Given the description of an element on the screen output the (x, y) to click on. 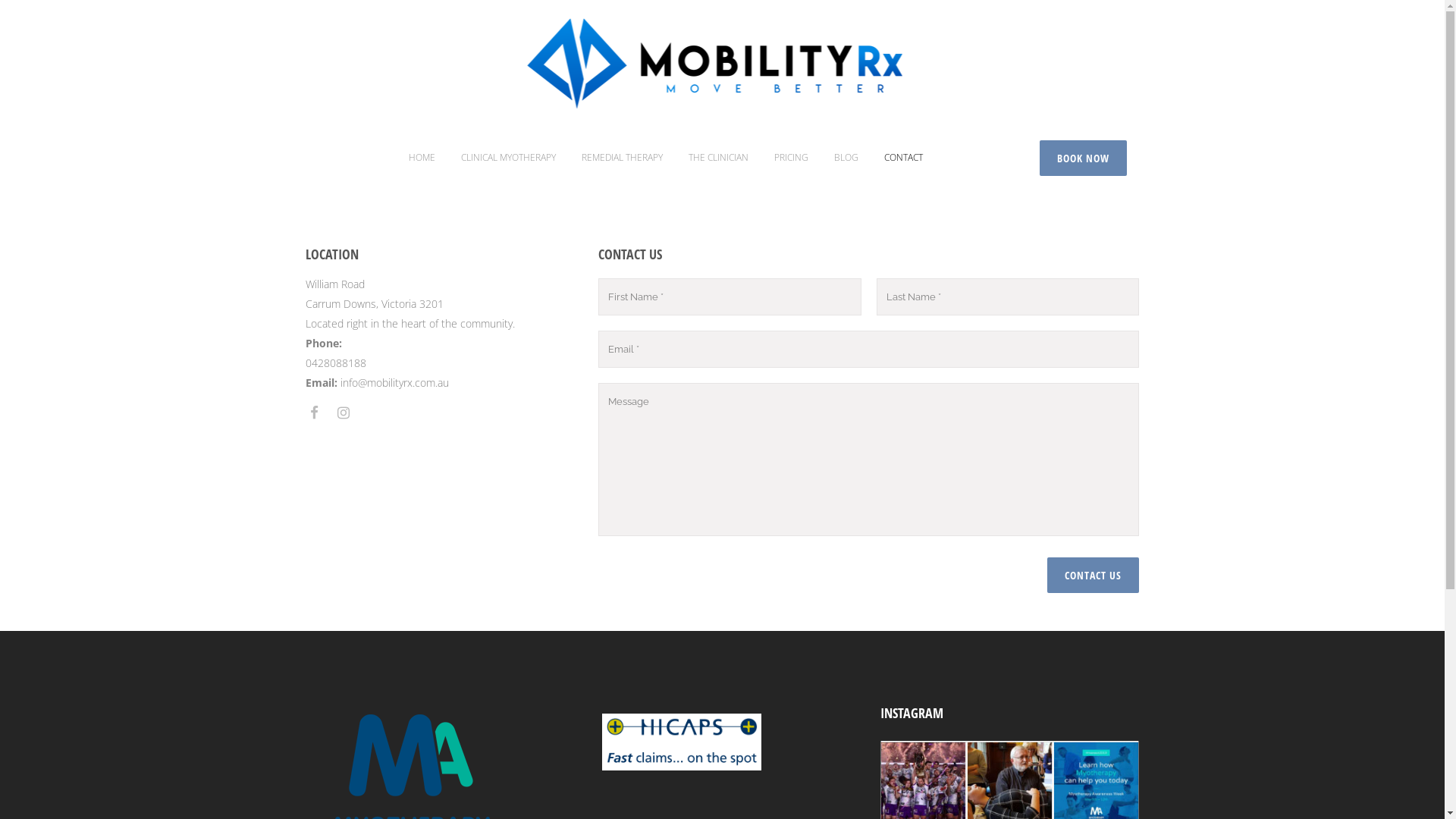
REMEDIAL THERAPY Element type: text (621, 157)
CLINICAL MYOTHERAPY Element type: text (508, 157)
Contact Us Element type: text (1093, 575)
CONTACT Element type: text (903, 157)
THE CLINICIAN Element type: text (718, 157)
BLOG Element type: text (846, 157)
HOME Element type: text (421, 157)
PRICING Element type: text (791, 157)
BOOK NOW Element type: text (1082, 157)
